Given the description of an element on the screen output the (x, y) to click on. 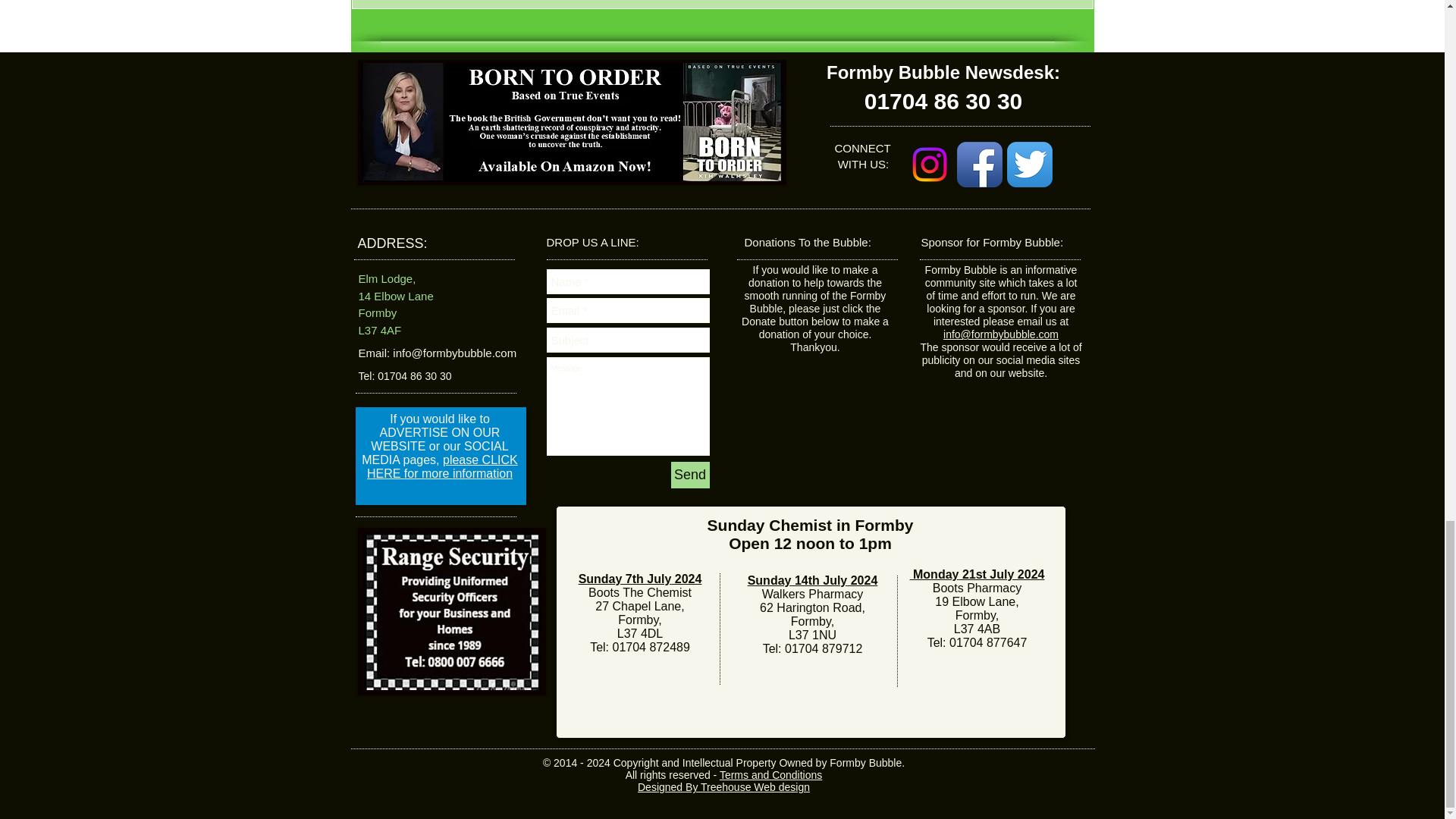
banner-master.jpg (452, 611)
banner-master.jpg (572, 122)
